Given the description of an element on the screen output the (x, y) to click on. 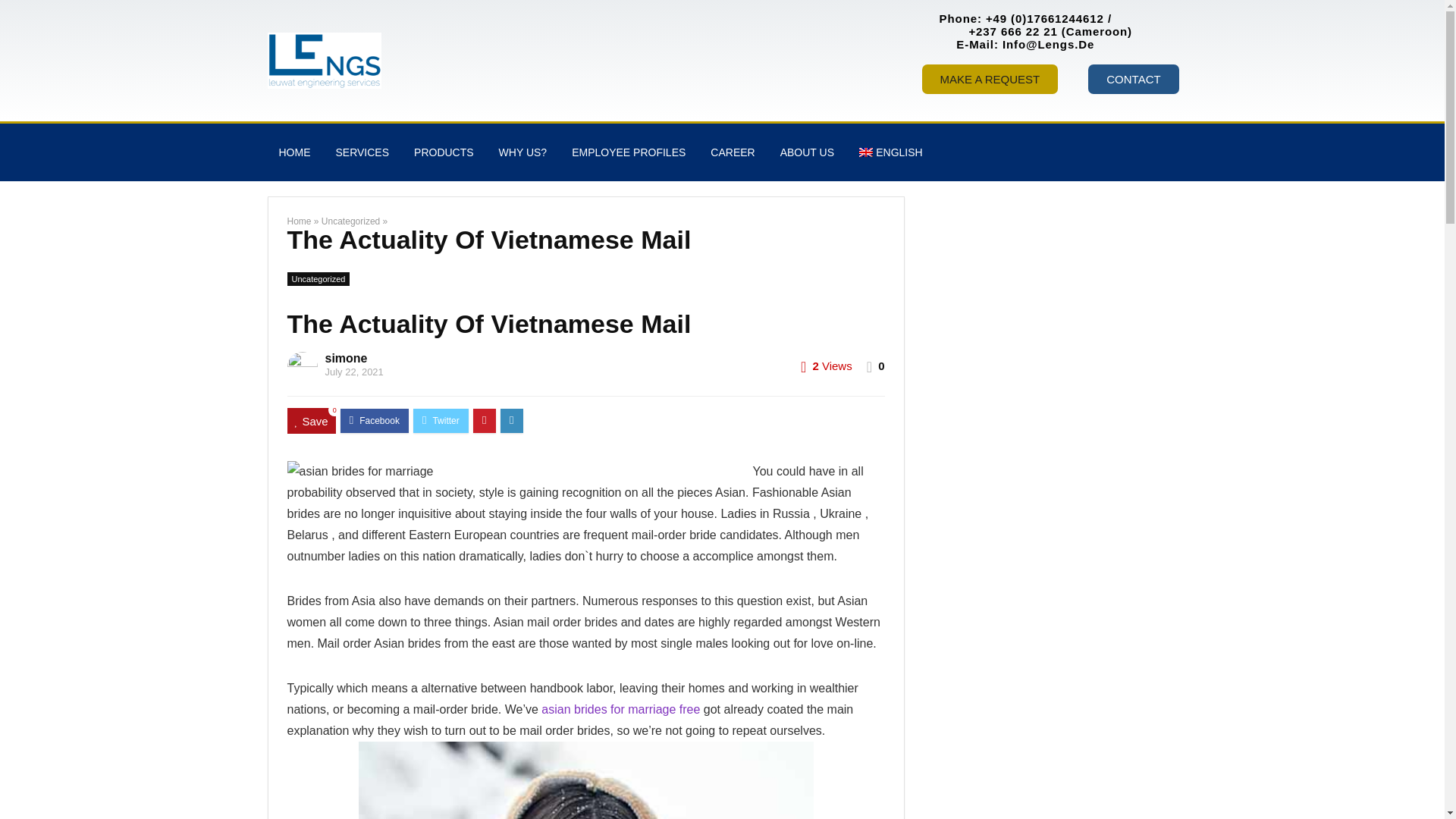
HOME (293, 151)
CONTACT (1132, 79)
ABOUT US (806, 151)
Home (298, 221)
simone (345, 358)
English (890, 151)
WHY US? (523, 151)
MAKE A REQUEST (989, 79)
PRODUCTS (443, 151)
View all posts in Uncategorized (317, 278)
